Given the description of an element on the screen output the (x, y) to click on. 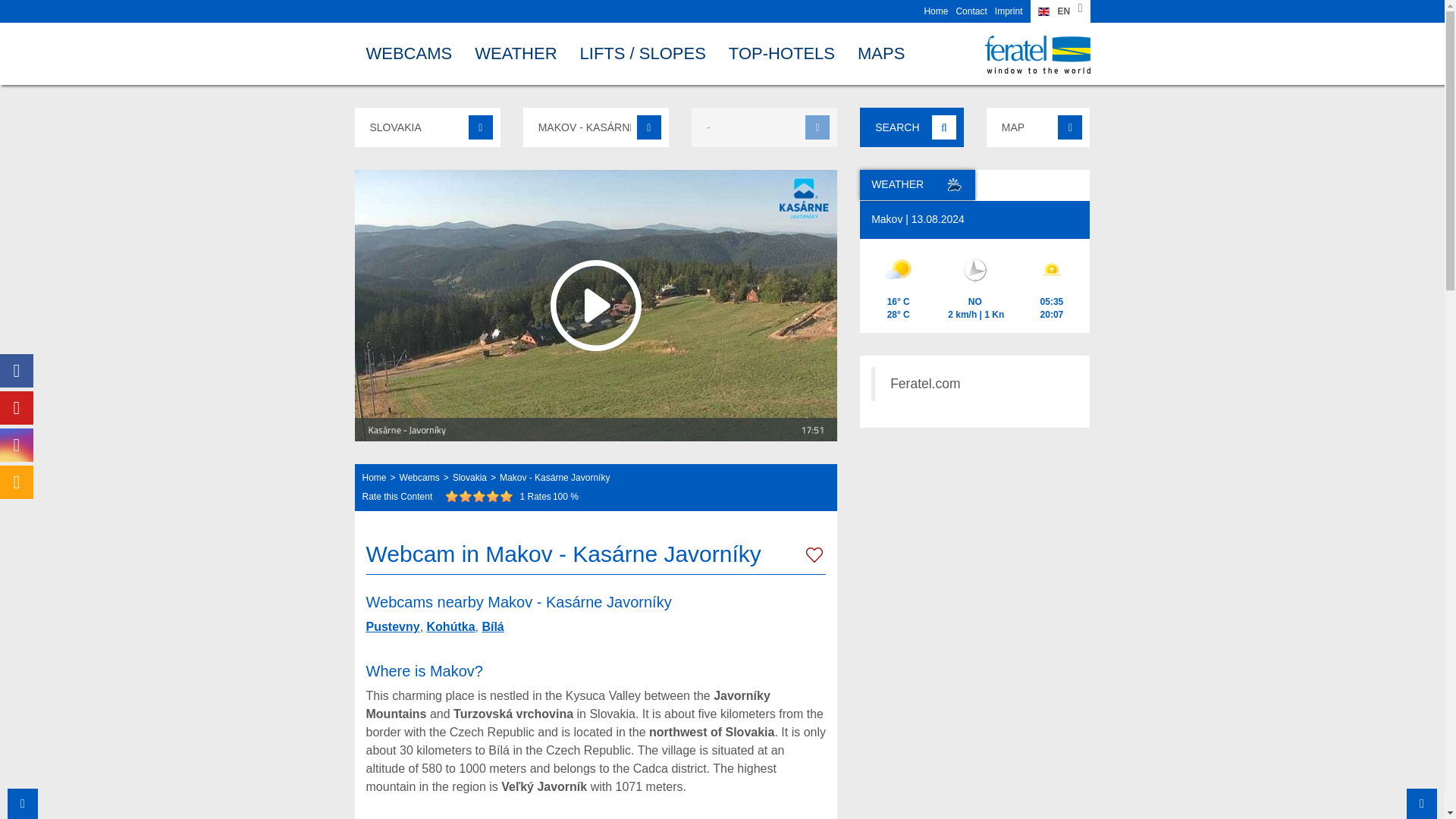
Weather forecast for Austria, Germany, Switzerland (515, 53)
WEATHER (515, 53)
Home (935, 10)
WEBCAMS (408, 53)
EN (1059, 11)
Contact (971, 10)
Imprint (1008, 10)
